Given the description of an element on the screen output the (x, y) to click on. 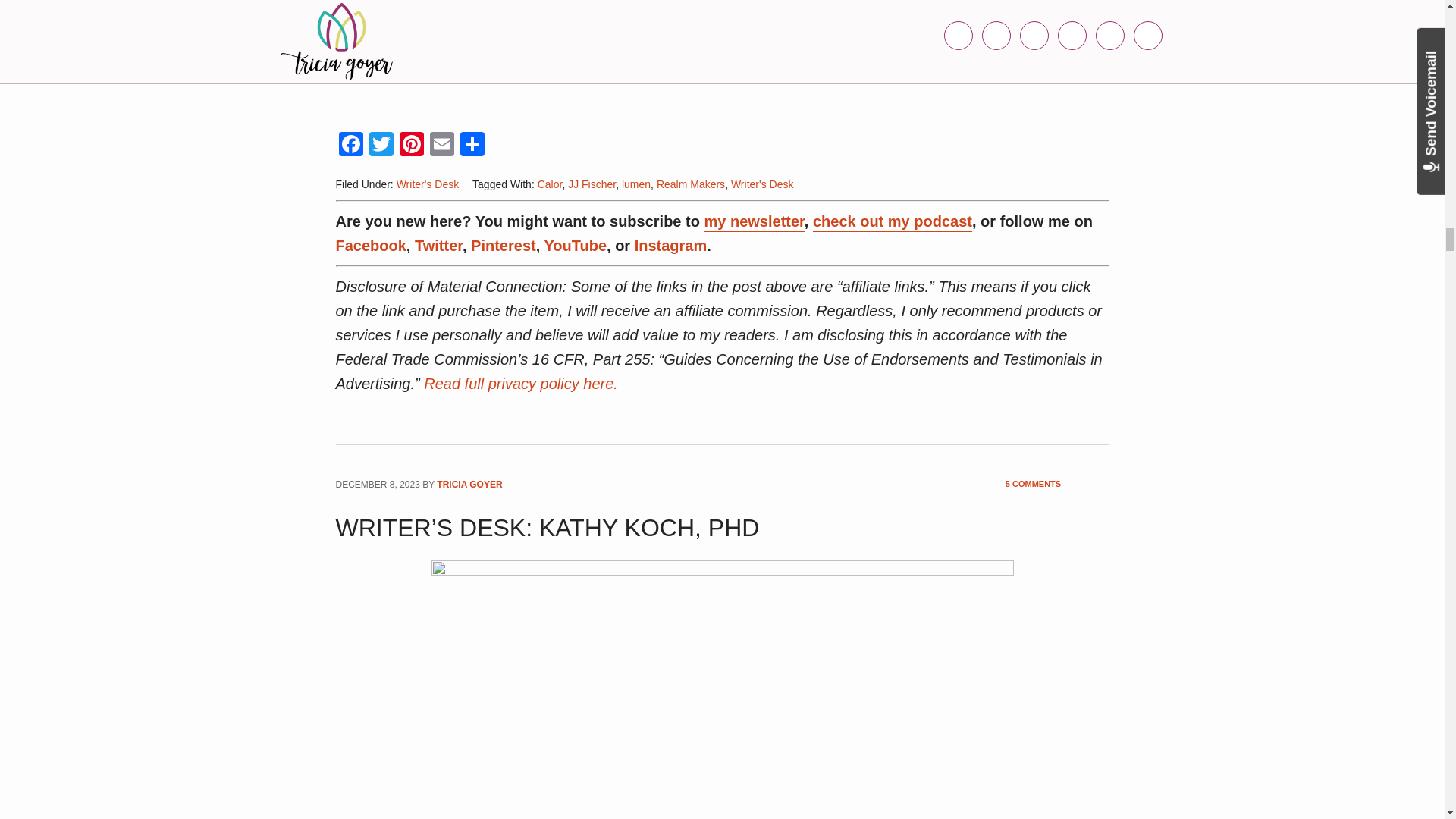
Twitter (380, 145)
Email (441, 145)
Pinterest (411, 145)
Facebook (349, 145)
